Given the description of an element on the screen output the (x, y) to click on. 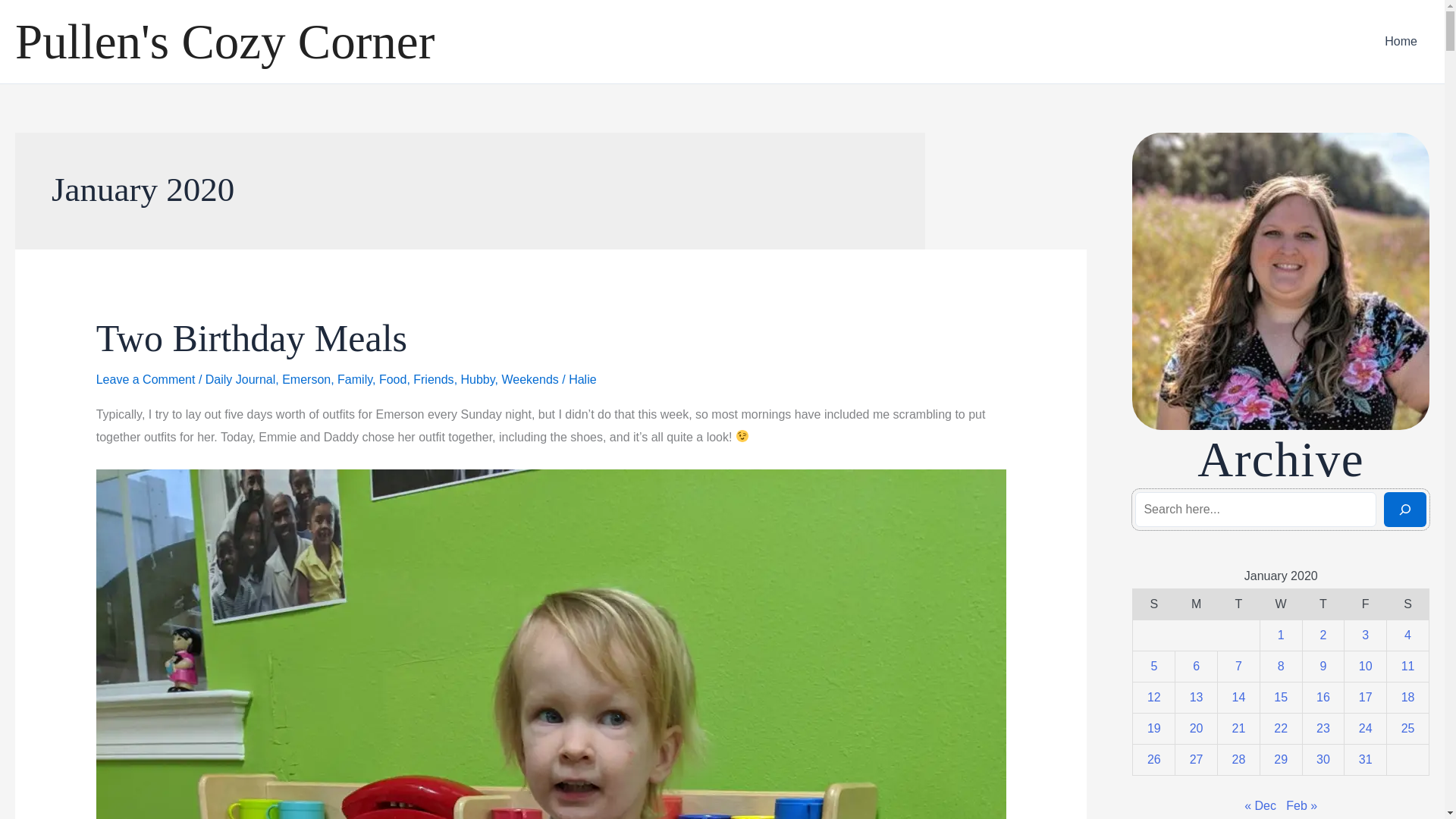
Friends (432, 379)
Halie (582, 379)
Two Birthday Meals (251, 337)
View all posts by Halie (582, 379)
Family (354, 379)
Pullen's Cozy Corner (223, 41)
Emerson (306, 379)
Weekends (528, 379)
Leave a Comment (145, 379)
Hubby (478, 379)
Food (392, 379)
Home (1401, 41)
Daily Journal (240, 379)
